Given the description of an element on the screen output the (x, y) to click on. 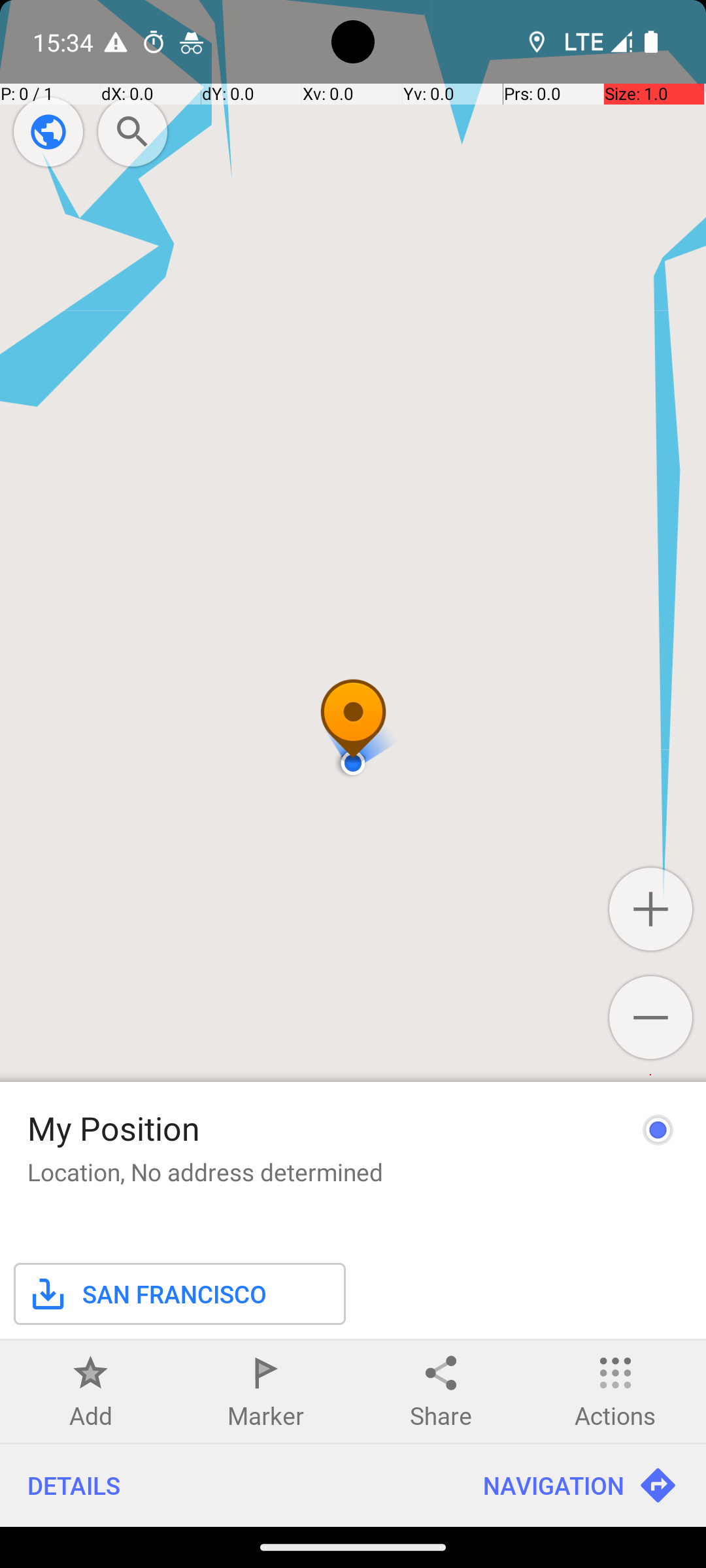
Map Element type: android.view.View (353, 763)
Zoom in Element type: android.widget.ImageButton (650, 908)
Zoom out Element type: android.widget.ImageButton (650, 1017)
My Position Element type: android.widget.TextView (113, 1127)
Location, No address determined Element type: android.widget.TextView (205, 1171)
DETAILS Element type: android.widget.TextView (227, 1485)
NAVIGATION Element type: android.widget.TextView (580, 1485)
Add Element type: android.widget.TextView (90, 1415)
Marker Element type: android.widget.TextView (265, 1415)
SAN FRANCISCO Element type: android.widget.TextView (146, 1293)
